Given the description of an element on the screen output the (x, y) to click on. 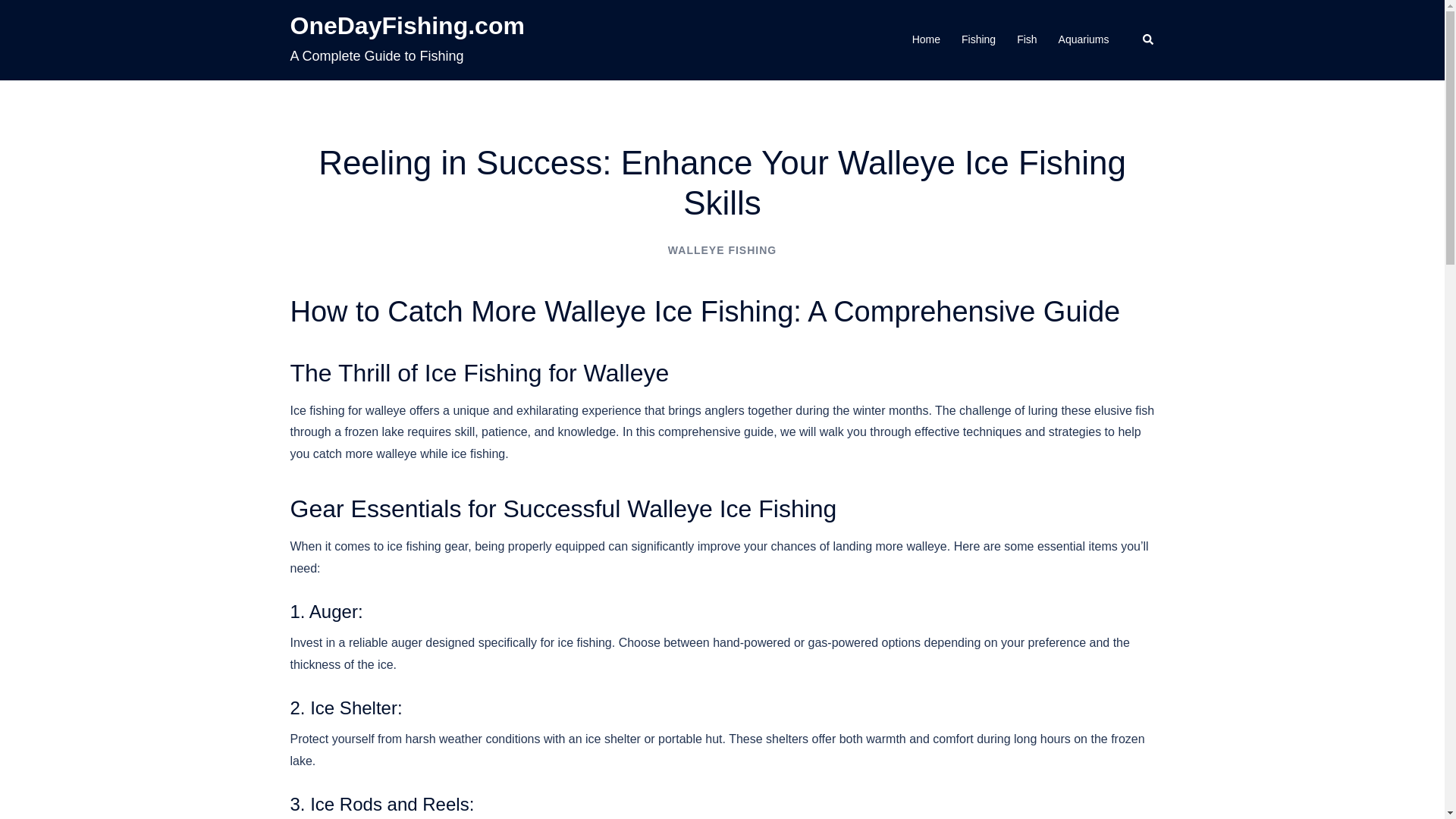
Aquariums (1083, 39)
Fishing (977, 39)
WALLEYE FISHING (722, 250)
Fish (1026, 39)
Home (926, 39)
OneDayFishing.com (406, 25)
Search (1147, 39)
